Given the description of an element on the screen output the (x, y) to click on. 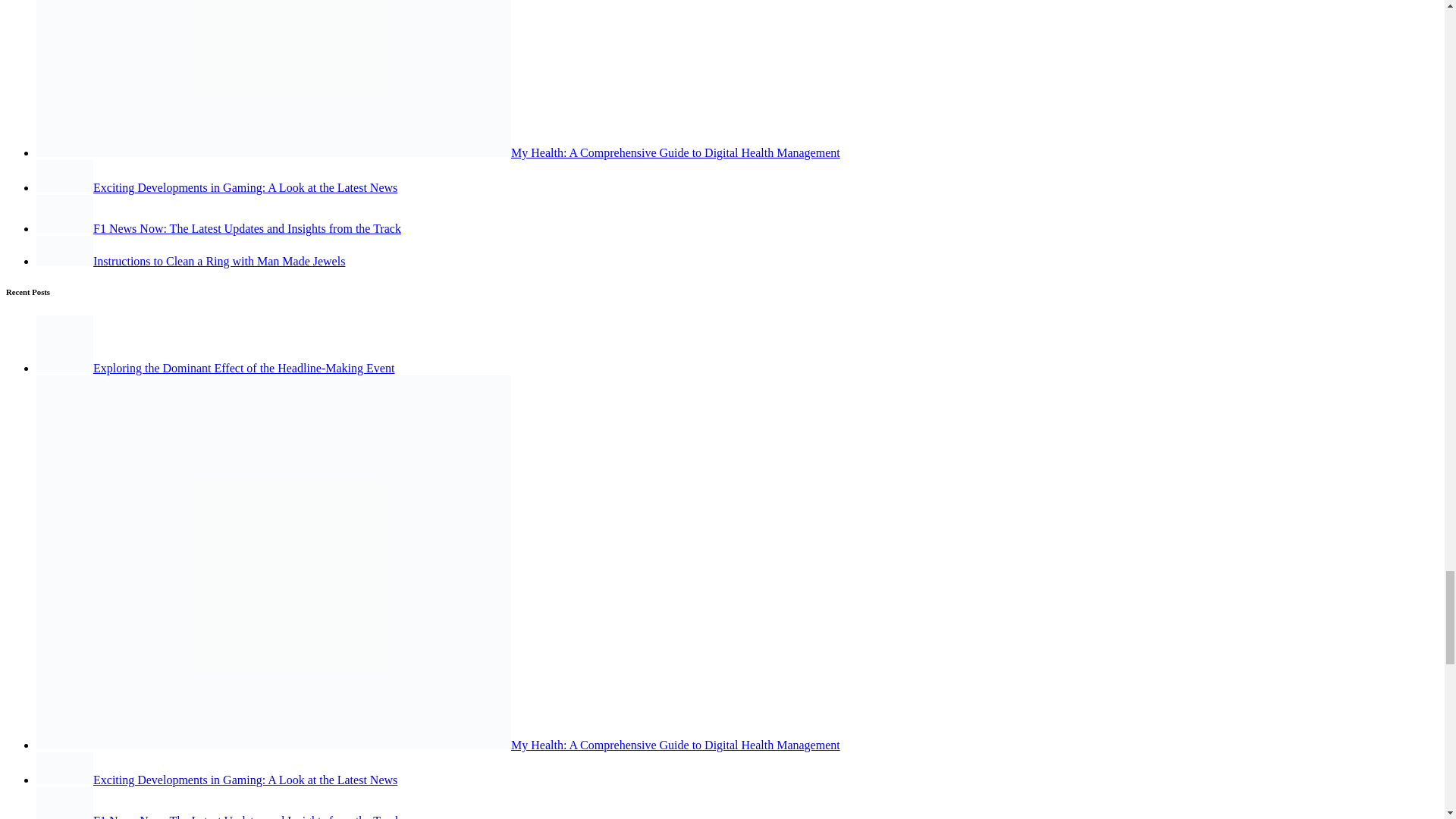
F1 News Now (64, 803)
F1 News Now (64, 213)
